Given the description of an element on the screen output the (x, y) to click on. 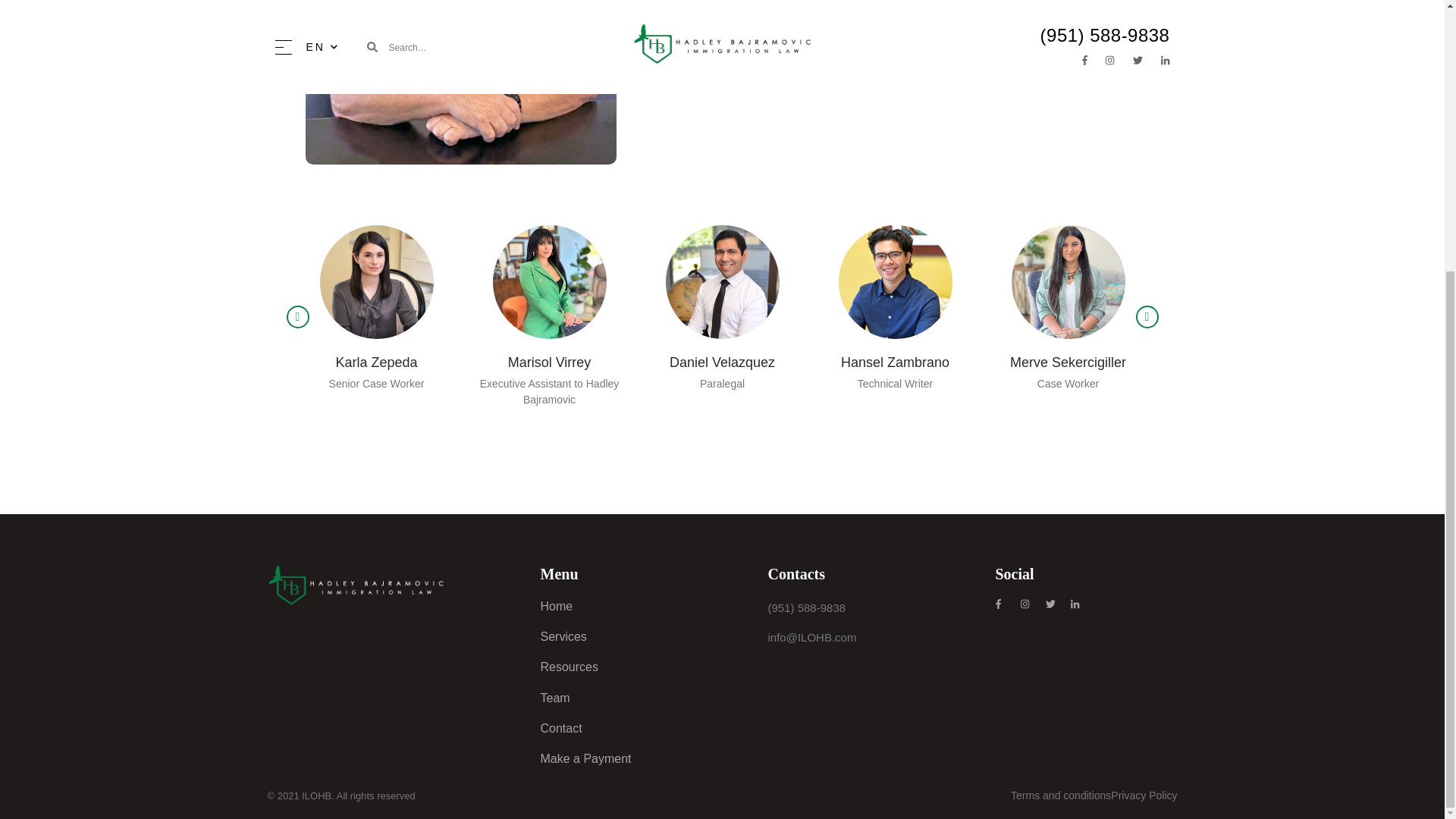
Karla Zepeda (375, 362)
Karla-Zepeda (376, 282)
